Given the description of an element on the screen output the (x, y) to click on. 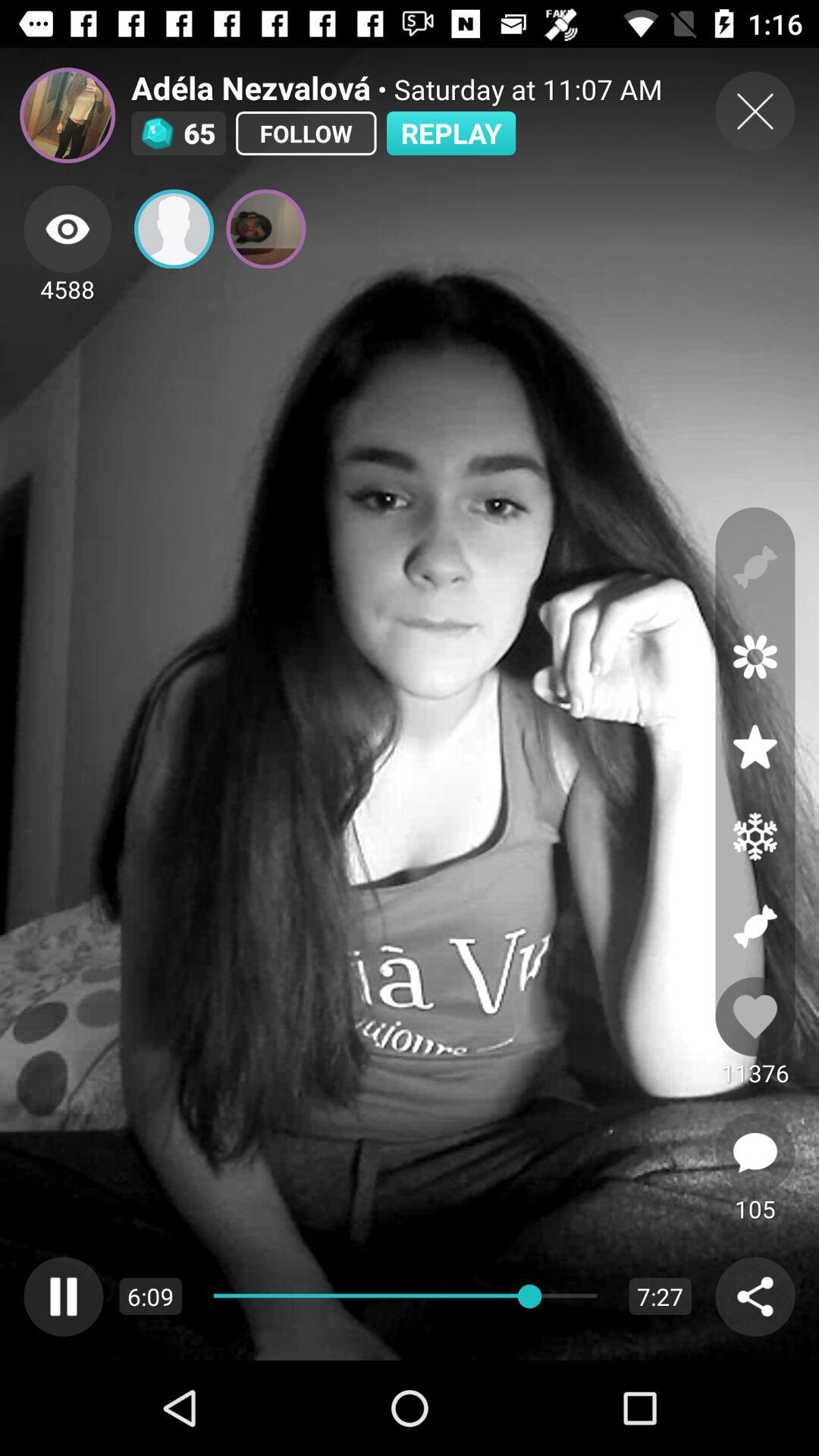
share (173, 229)
